Given the description of an element on the screen output the (x, y) to click on. 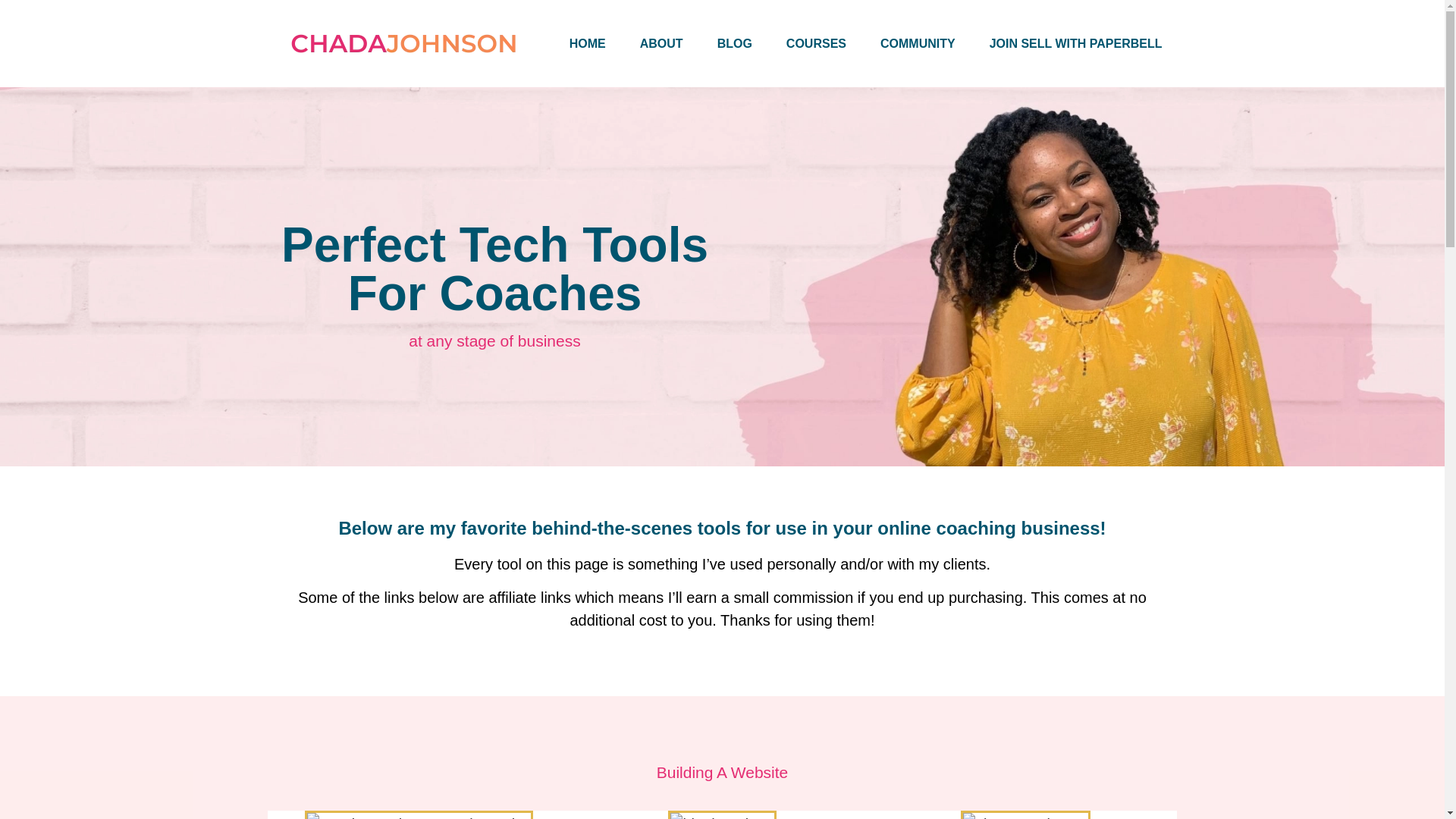
HOME (587, 42)
bluehost-logo (722, 814)
WordPress-logotype-alternative (419, 814)
BLOG (734, 42)
elementor logo 2 (1025, 814)
COMMUNITY (917, 42)
JOIN SELL WITH PAPERBELL (1075, 42)
COURSES (816, 42)
ABOUT (661, 42)
